Given the description of an element on the screen output the (x, y) to click on. 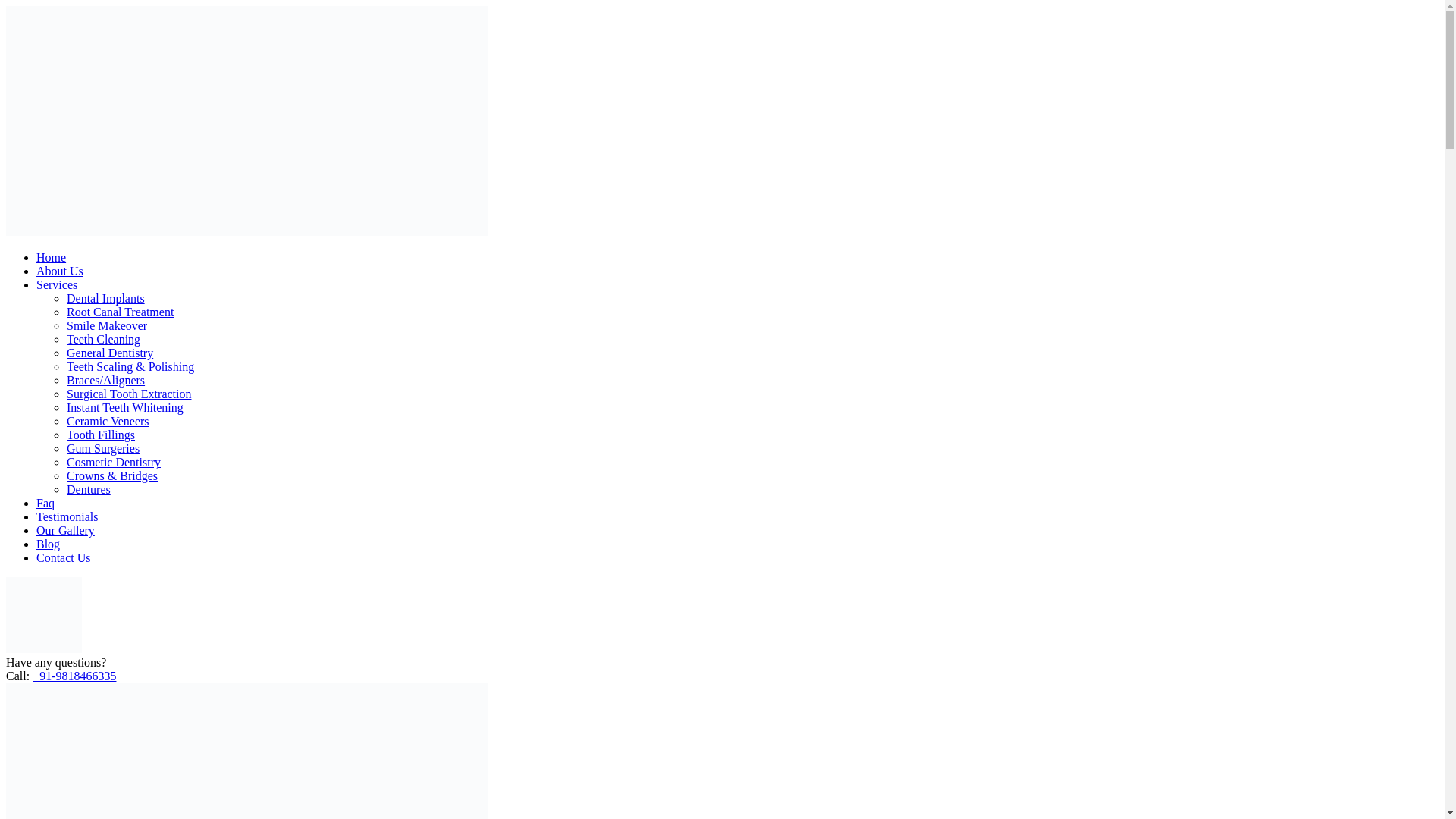
General Dentistry (109, 352)
Instant Teeth Whitening (124, 407)
Ceramic Veneers (107, 420)
Dentures (88, 489)
Tooth Fillings (100, 434)
Faq (45, 502)
Services (56, 284)
Blog (47, 543)
Surgical Tooth Extraction (128, 393)
Contact Us (63, 557)
About Us (59, 270)
Home (50, 256)
Gum Surgeries (102, 448)
Smile Makeover (106, 325)
Root Canal Treatment (119, 311)
